Given the description of an element on the screen output the (x, y) to click on. 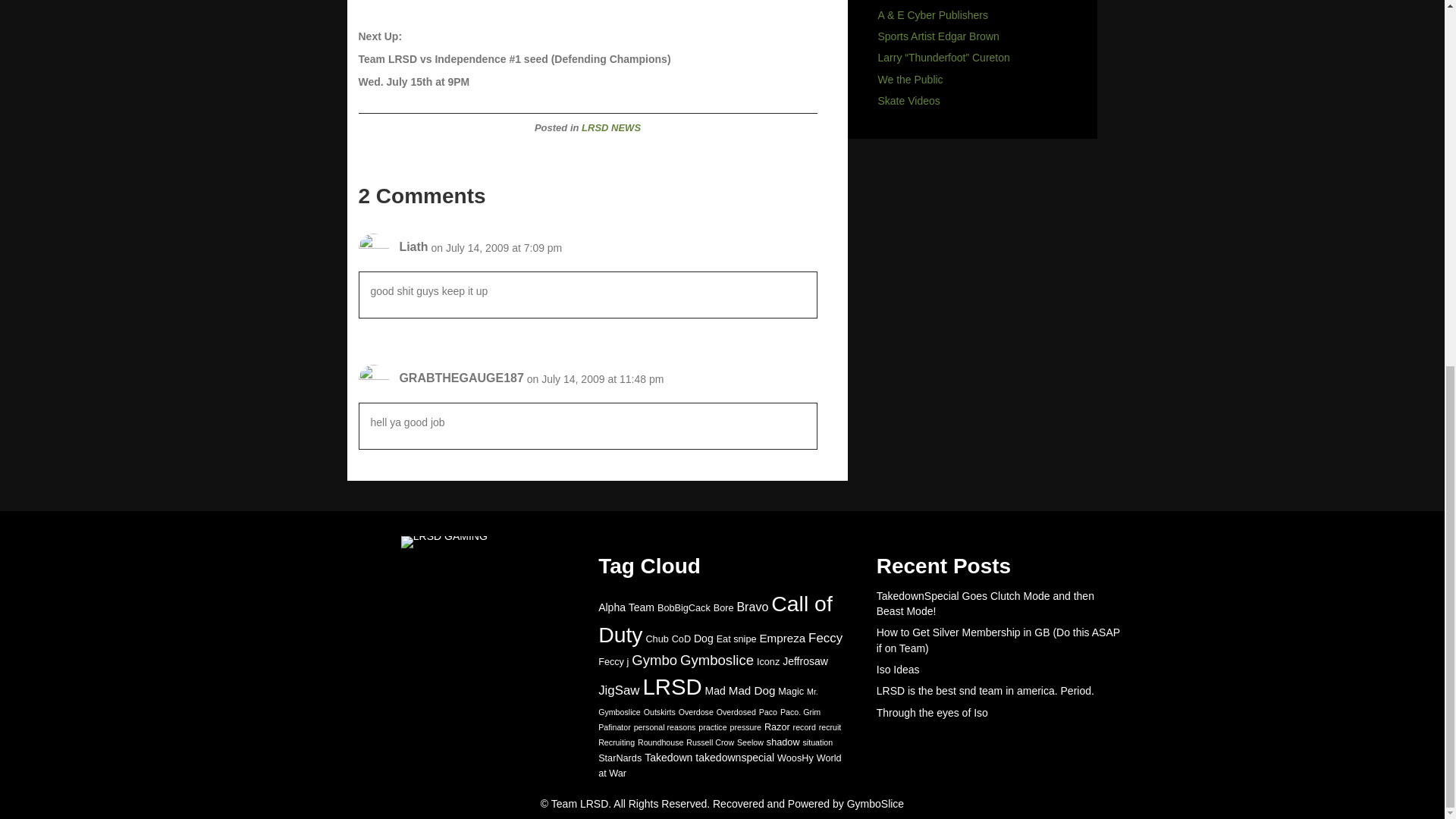
Empreza (781, 637)
LRSD NEWS (610, 127)
Sports Artist Edgar Brown (937, 36)
BobBigCack (684, 607)
JigSaw (618, 690)
Mad (714, 690)
Eat snipe (736, 638)
We the Public (910, 79)
Iconz (767, 661)
CoD (680, 638)
Call of Duty (715, 619)
Bore (723, 607)
Magic (790, 691)
LRSD (671, 686)
Feccy j (613, 661)
